Given the description of an element on the screen output the (x, y) to click on. 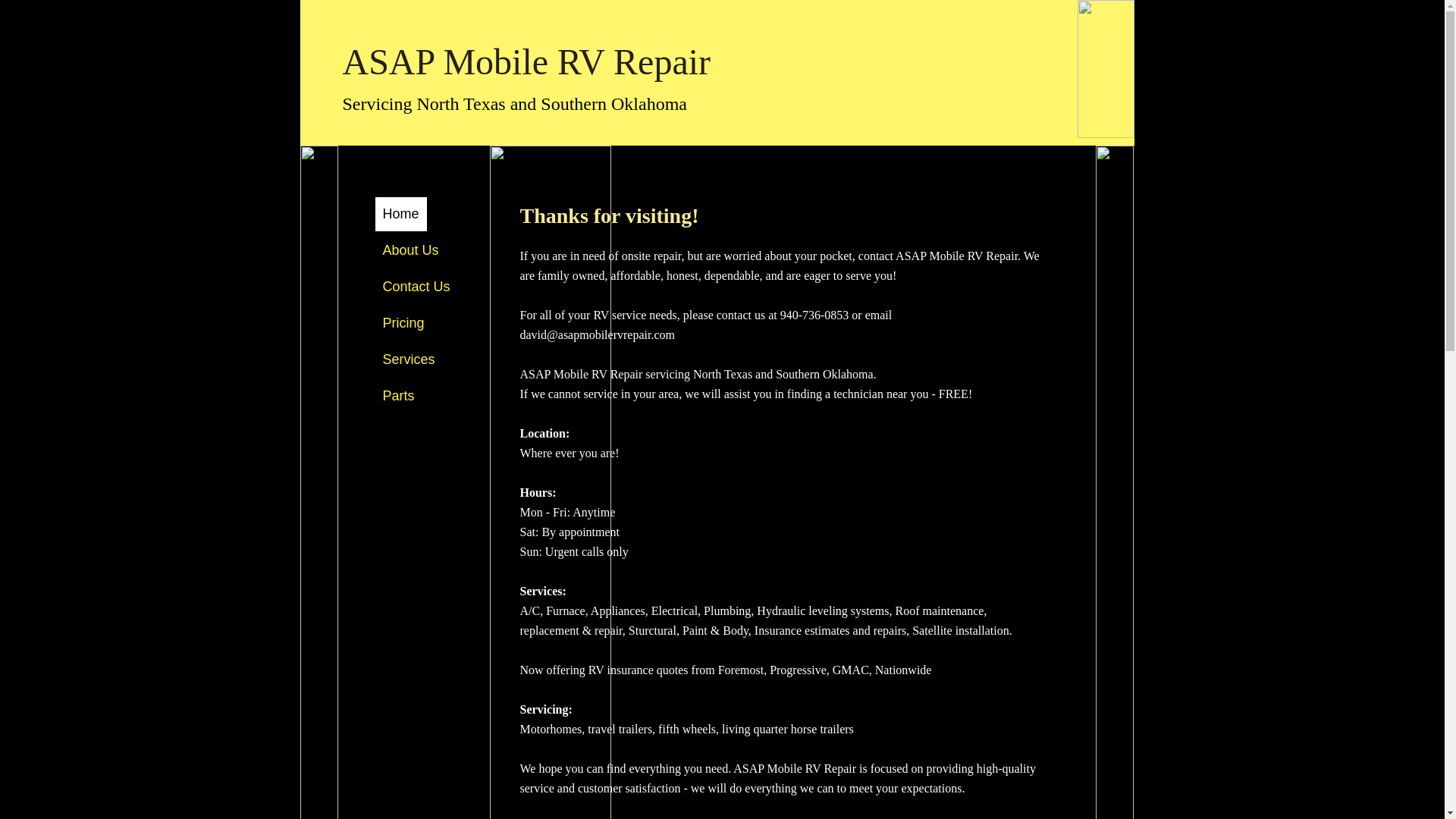
Home (400, 213)
Services (408, 359)
About Us (409, 250)
Contact Us (415, 286)
Parts (398, 396)
Pricing (402, 323)
